Given the description of an element on the screen output the (x, y) to click on. 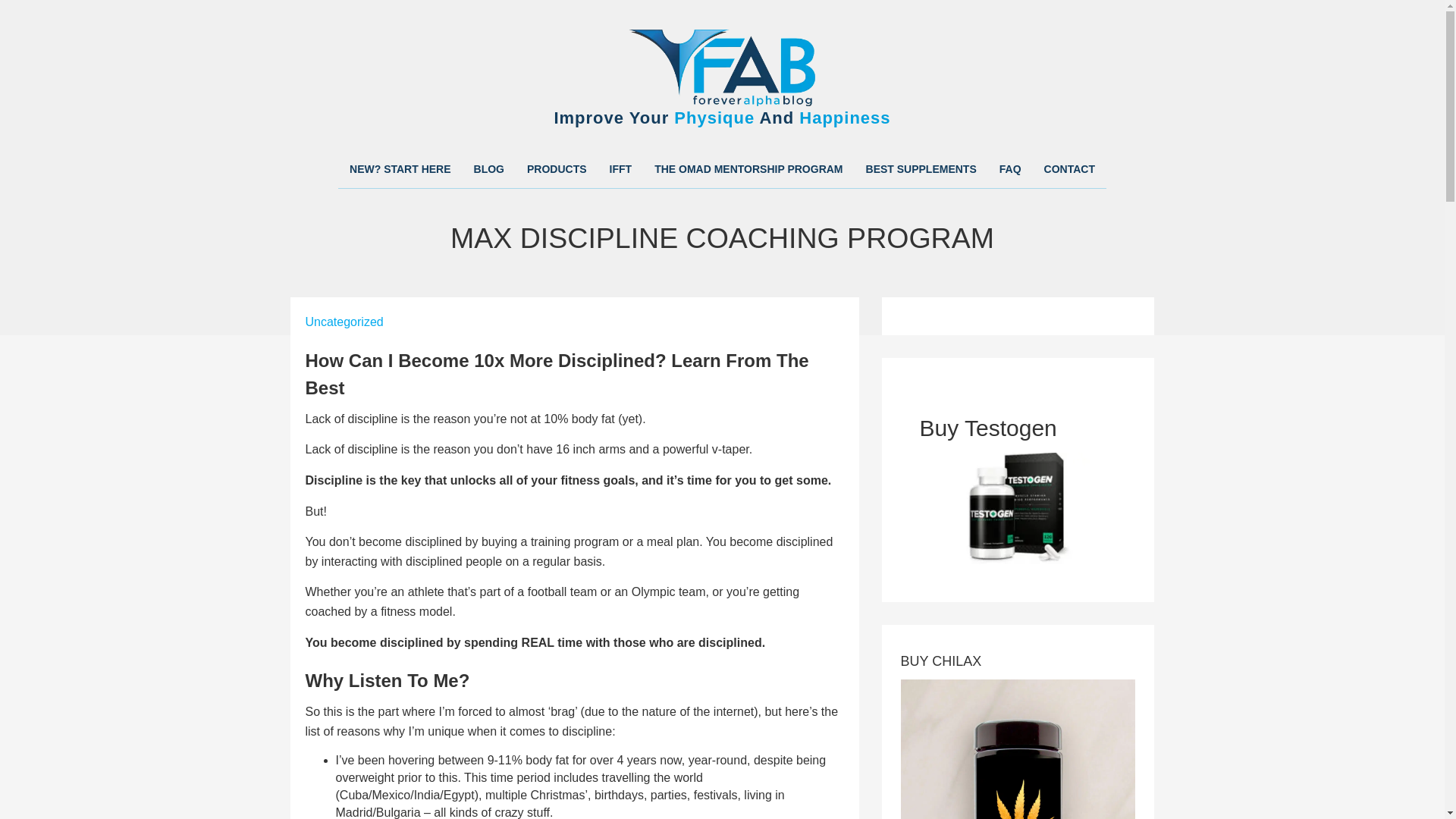
IFFT (620, 168)
Uncategorized (343, 321)
IFFT (620, 168)
Blog (489, 168)
CONTACT (1069, 168)
BEST SUPPLEMENTS (921, 168)
Products (556, 168)
FAQ (1010, 168)
THE OMAD MENTORSHIP PROGRAM (748, 168)
NEW? START HERE (400, 168)
PRODUCTS (556, 168)
Contact (1069, 168)
Best Supplements (921, 168)
BLOG (489, 168)
New? Start Here (400, 168)
